Given the description of an element on the screen output the (x, y) to click on. 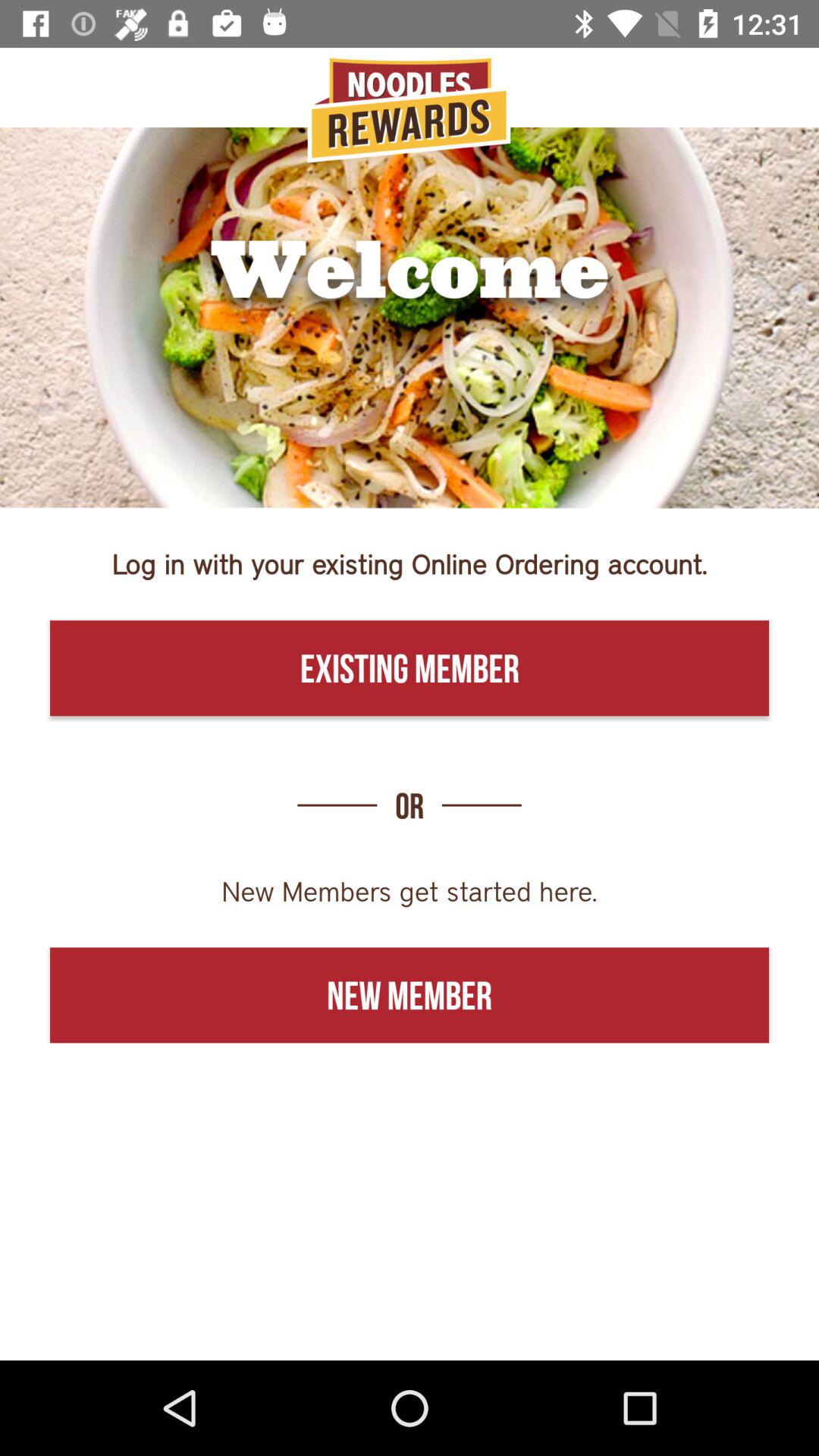
tap the item below log in with (409, 668)
